Given the description of an element on the screen output the (x, y) to click on. 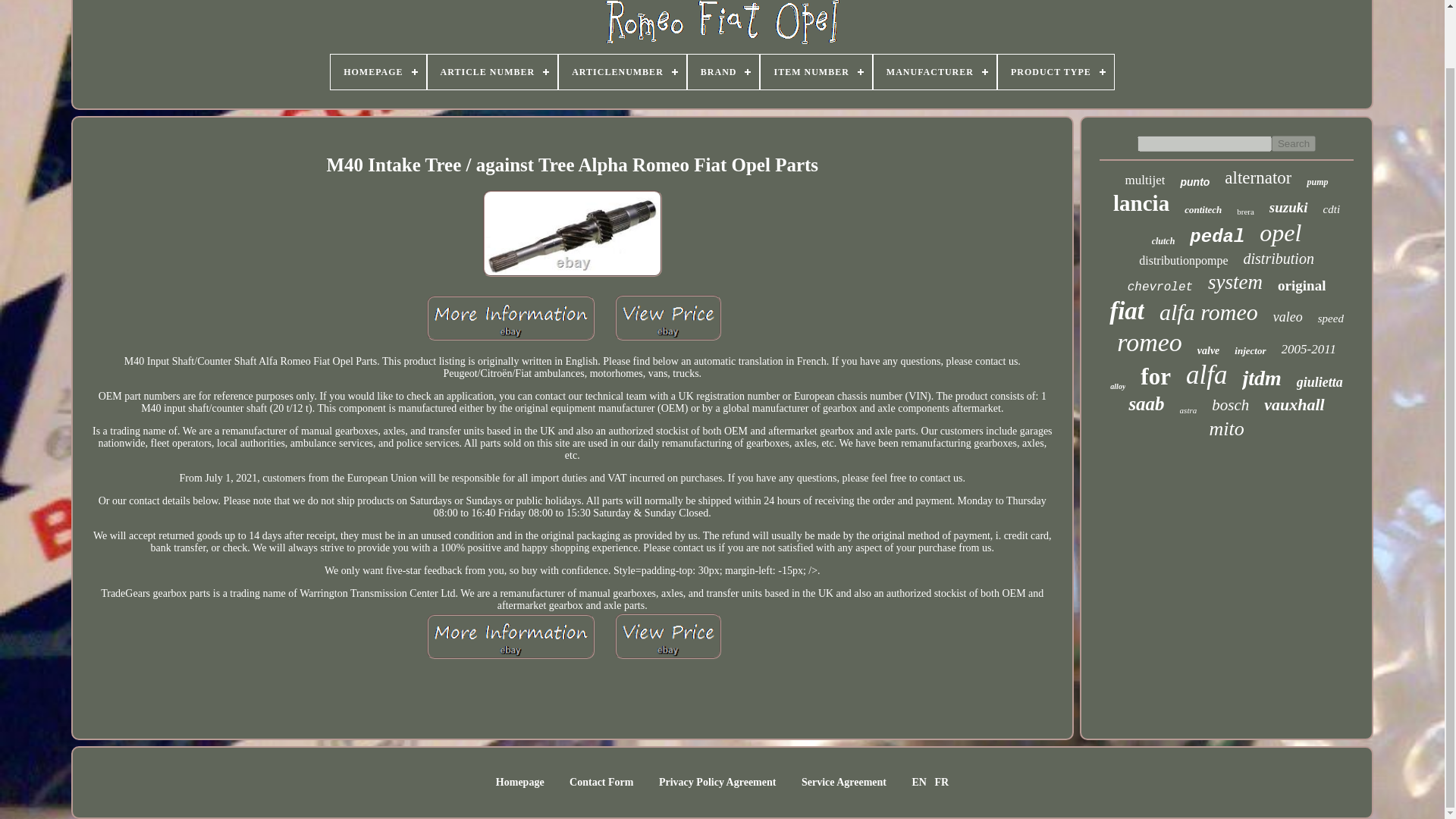
ARTICLENUMBER (622, 71)
Search (1293, 143)
HOMEPAGE (377, 71)
BRAND (723, 71)
ARTICLE NUMBER (492, 71)
